Given the description of an element on the screen output the (x, y) to click on. 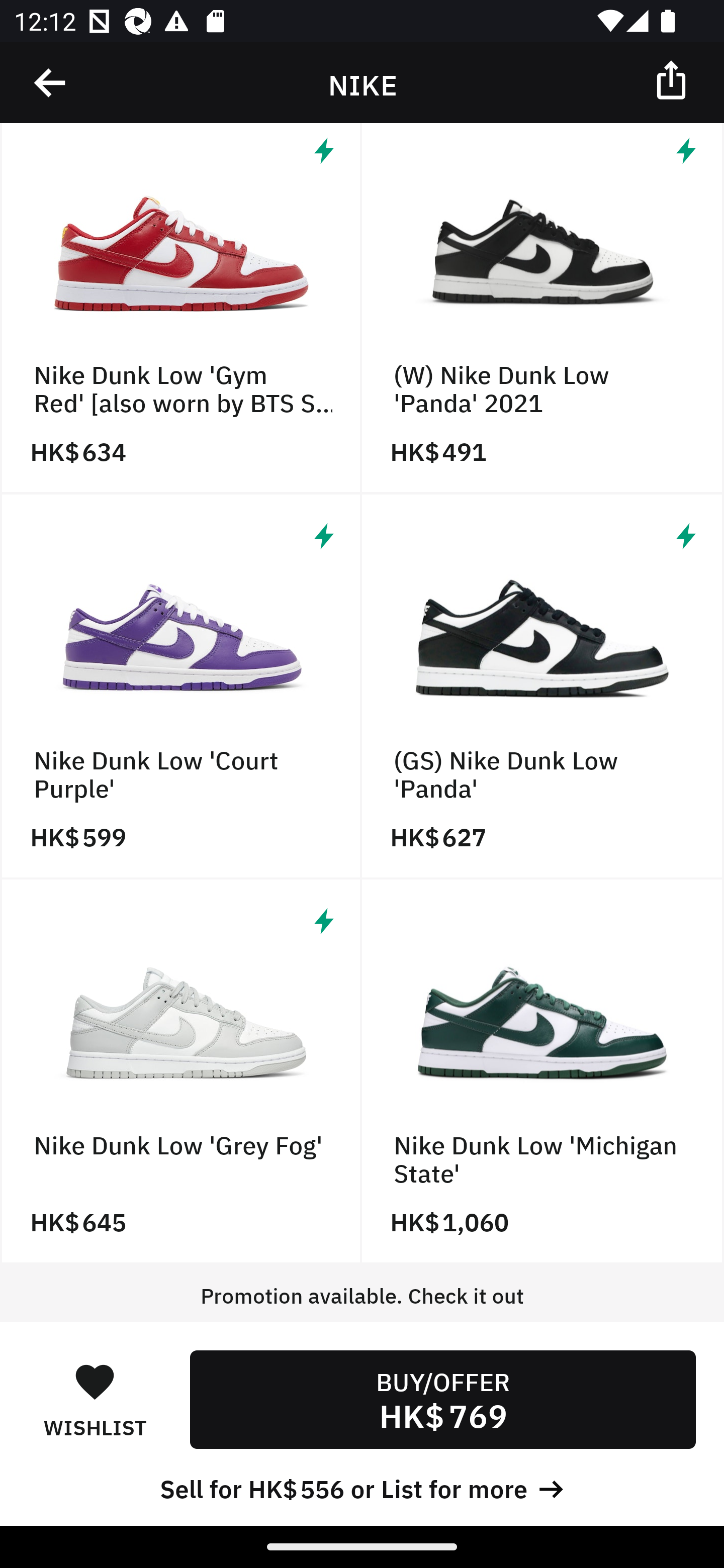
 (50, 83)
 (672, 79)
 (W) Nike Dunk Low 'Panda' 2021 HK$ 491 (543, 308)
 Nike Dunk Low 'Court Purple' HK$ 599 (181, 686)
 (GS) Nike Dunk Low 'Panda' HK$ 627 (543, 686)
 Nike Dunk Low 'Grey Fog' HK$ 645 (181, 1071)
Nike Dunk Low 'Michigan State' HK$ 1,060 (543, 1071)
BUY/OFFER HK$ 769 (442, 1399)
󰋑 (94, 1380)
Sell for HK$ 556 or List for more (361, 1486)
